Given the description of an element on the screen output the (x, y) to click on. 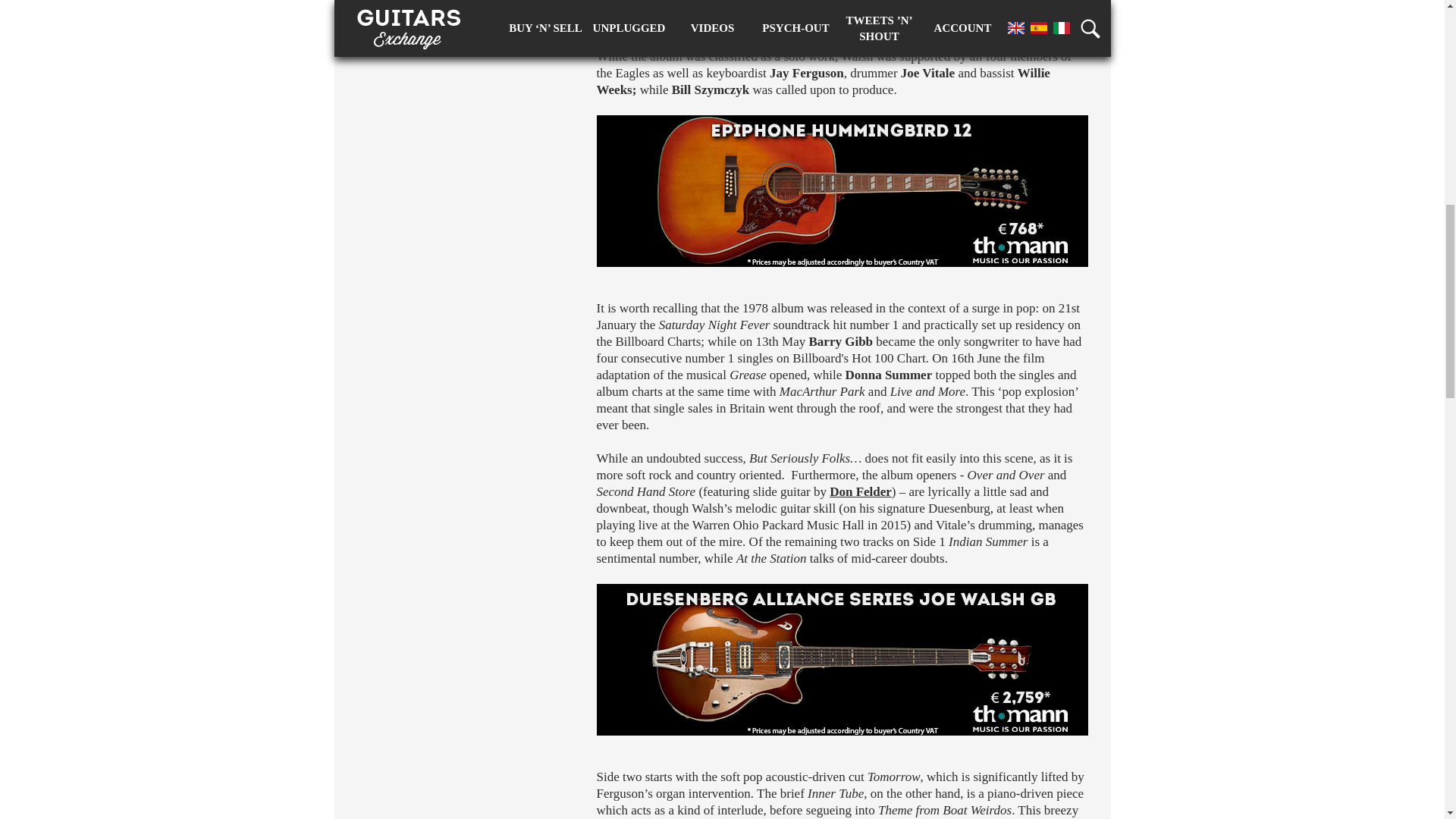
Don Felder (860, 491)
